Given the description of an element on the screen output the (x, y) to click on. 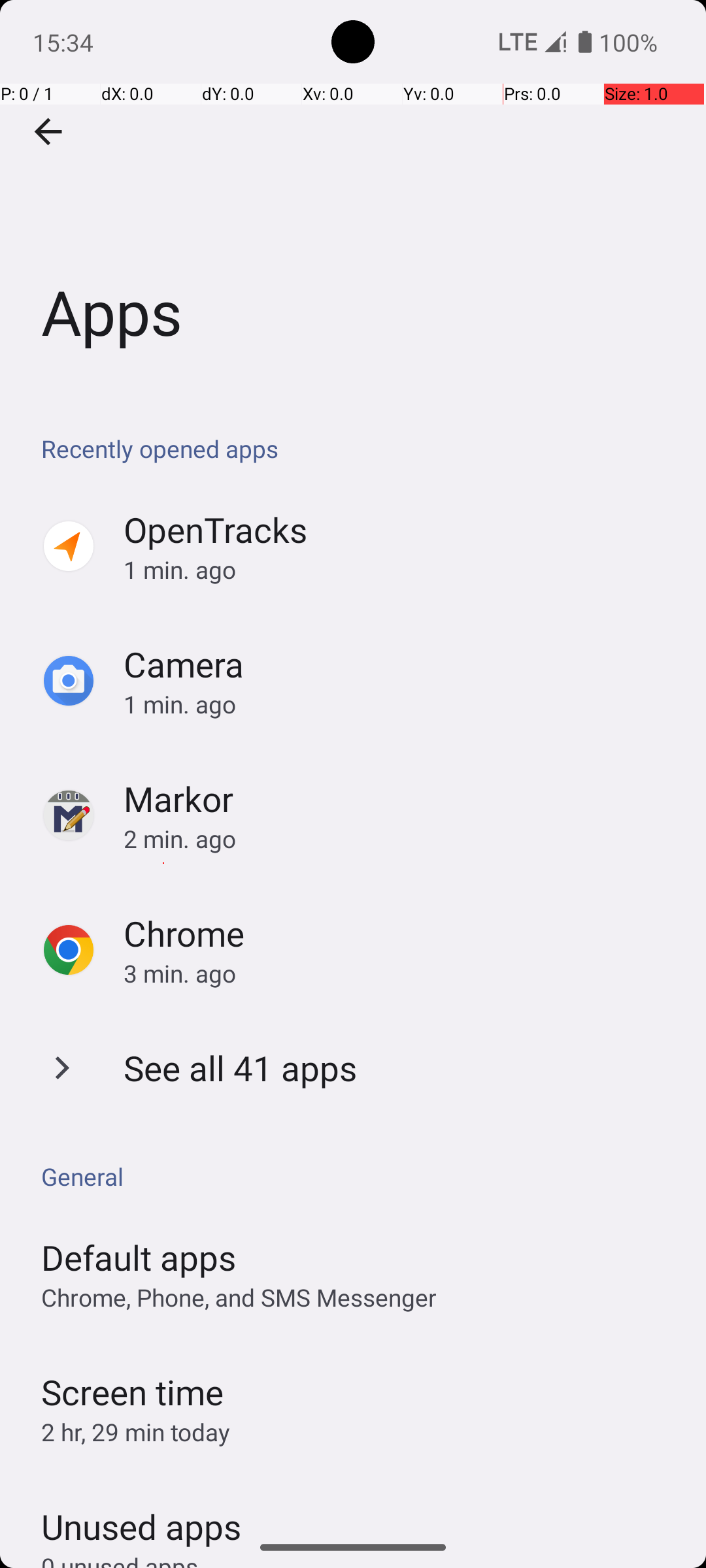
Recently opened apps Element type: android.widget.TextView (359, 448)
1 min. ago Element type: android.widget.TextView (400, 569)
2 min. ago Element type: android.widget.TextView (400, 838)
3 min. ago Element type: android.widget.TextView (400, 972)
See all 41 apps Element type: android.widget.TextView (239, 1067)
Chrome, Phone, and SMS Messenger Element type: android.widget.TextView (238, 1296)
2 hr, 29 min today Element type: android.widget.TextView (135, 1431)
Unused apps Element type: android.widget.TextView (141, 1514)
